Given the description of an element on the screen output the (x, y) to click on. 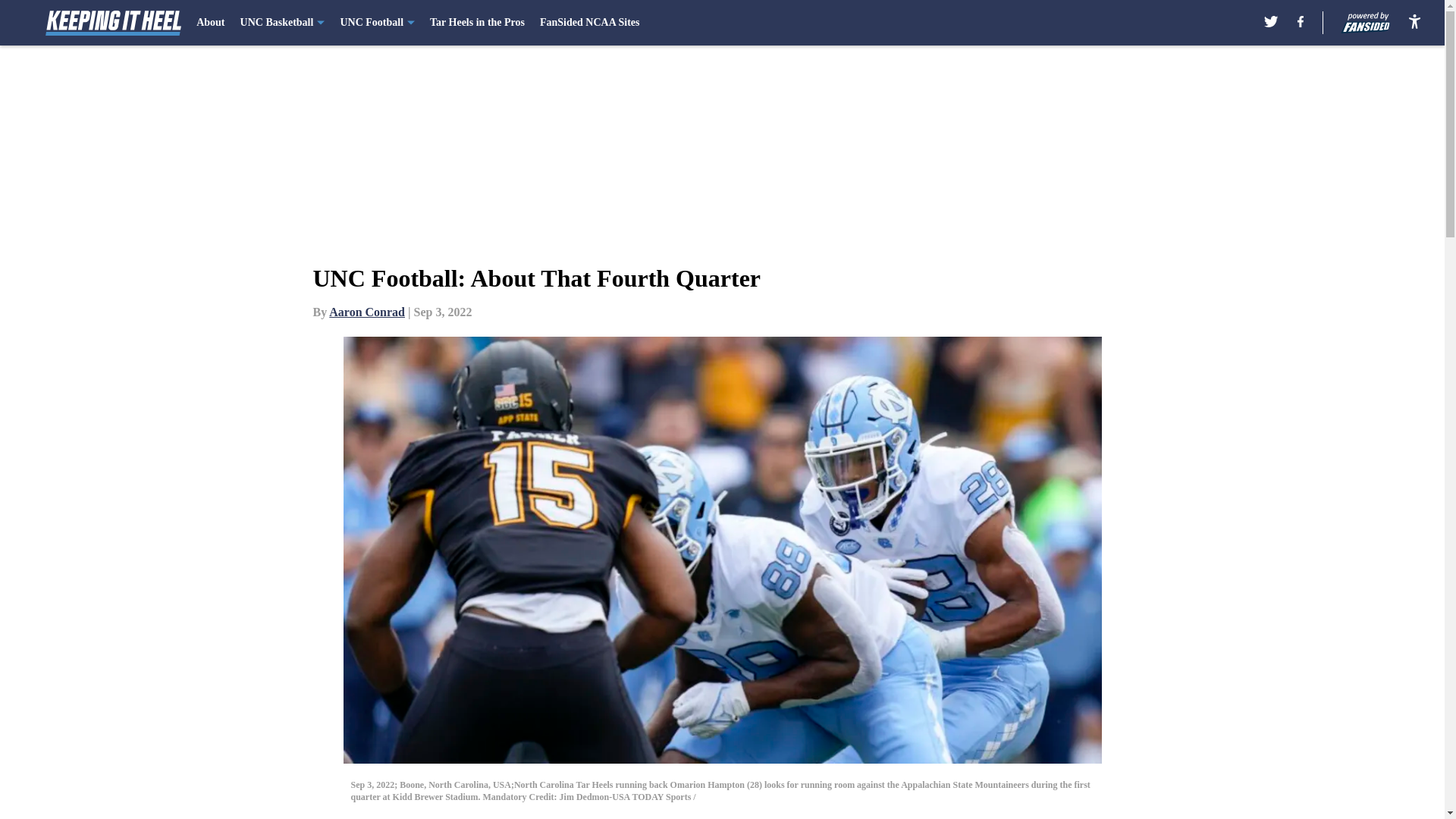
FanSided NCAA Sites (589, 22)
About (210, 22)
Tar Heels in the Pros (476, 22)
Aaron Conrad (366, 311)
